Given the description of an element on the screen output the (x, y) to click on. 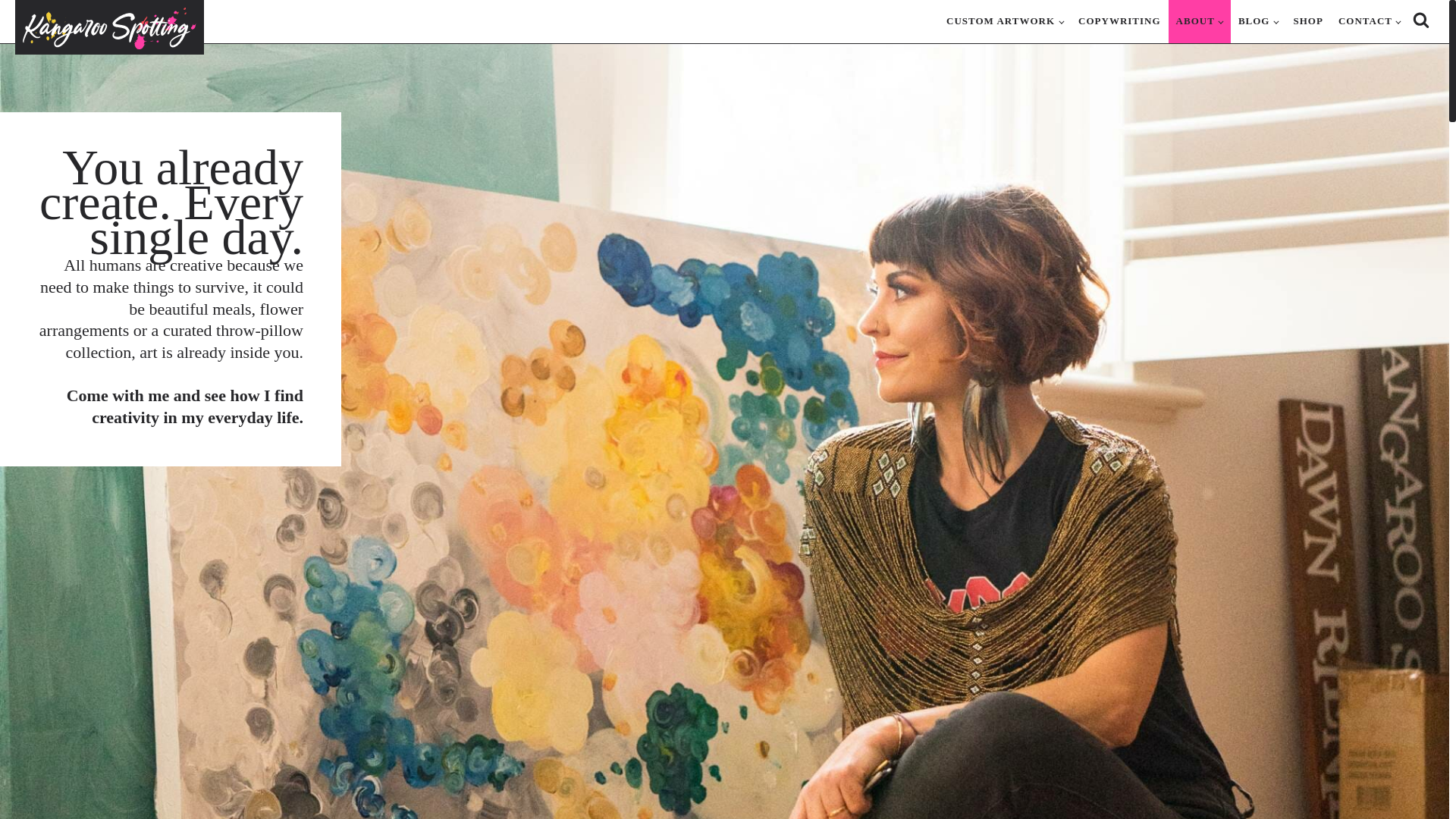
CONTACT (1368, 21)
COPYWRITING (1119, 21)
BLOG (1257, 21)
SHOP (1307, 21)
Search (37, 13)
ABOUT (1199, 21)
CUSTOM ARTWORK (1004, 21)
